Given the description of an element on the screen output the (x, y) to click on. 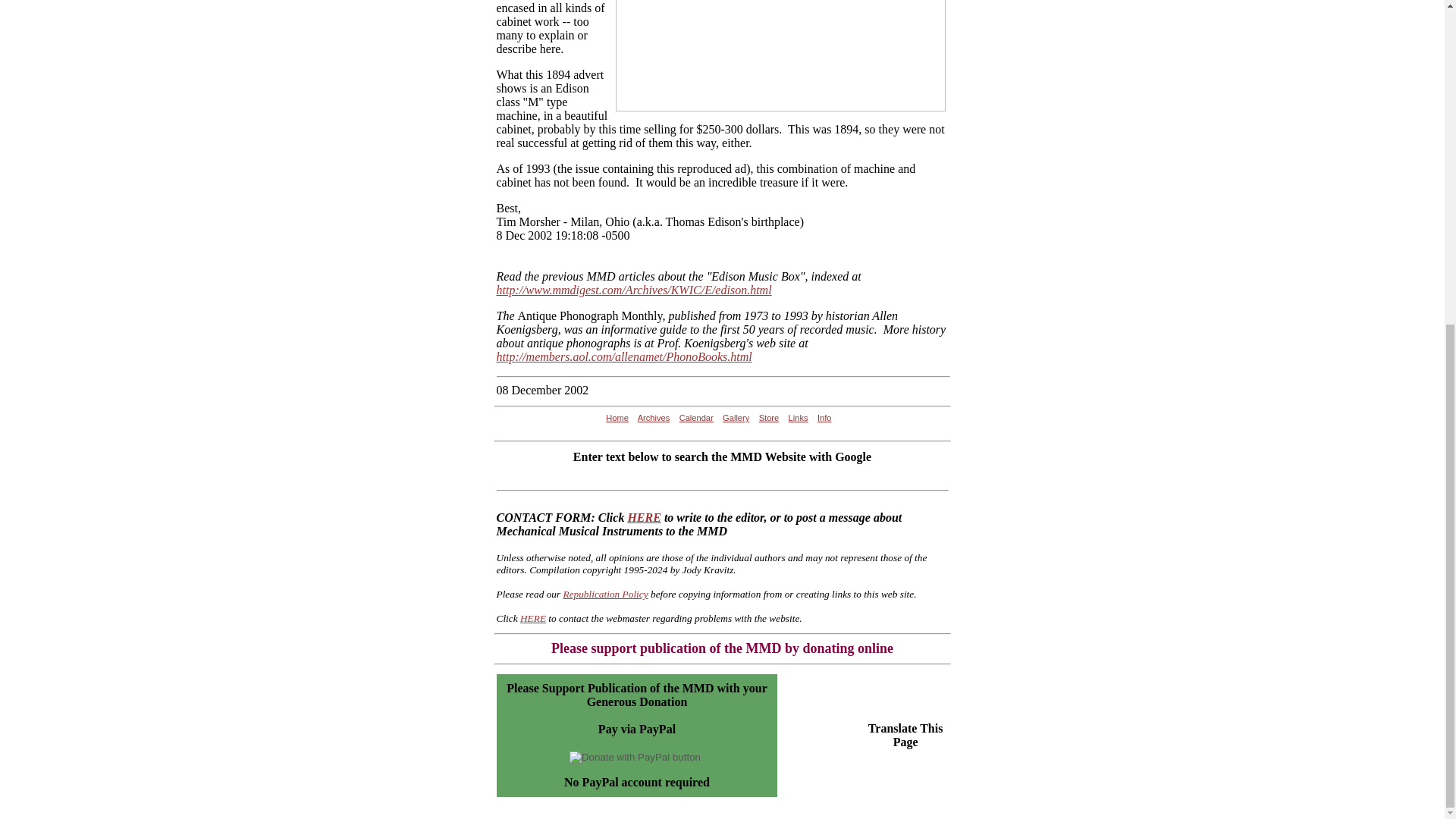
Calendar (696, 417)
Gallery (735, 417)
Republication Policy (604, 593)
Info (823, 417)
PayPal - The safer, easier way to pay online! (634, 757)
HERE (532, 618)
Home (616, 417)
Store (768, 417)
Archives (653, 417)
HERE (644, 517)
